Given the description of an element on the screen output the (x, y) to click on. 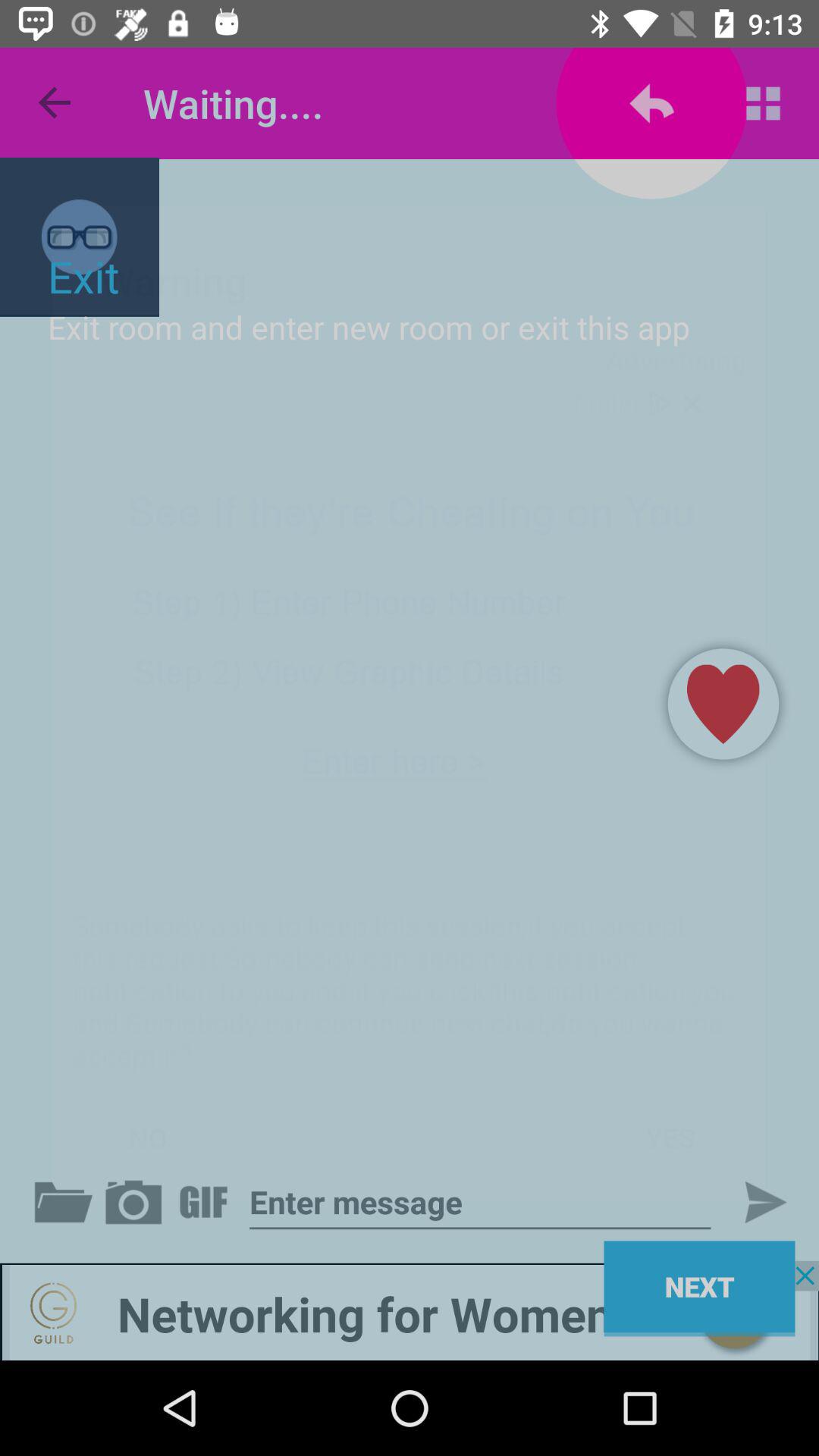
select the media (136, 1202)
